Given the description of an element on the screen output the (x, y) to click on. 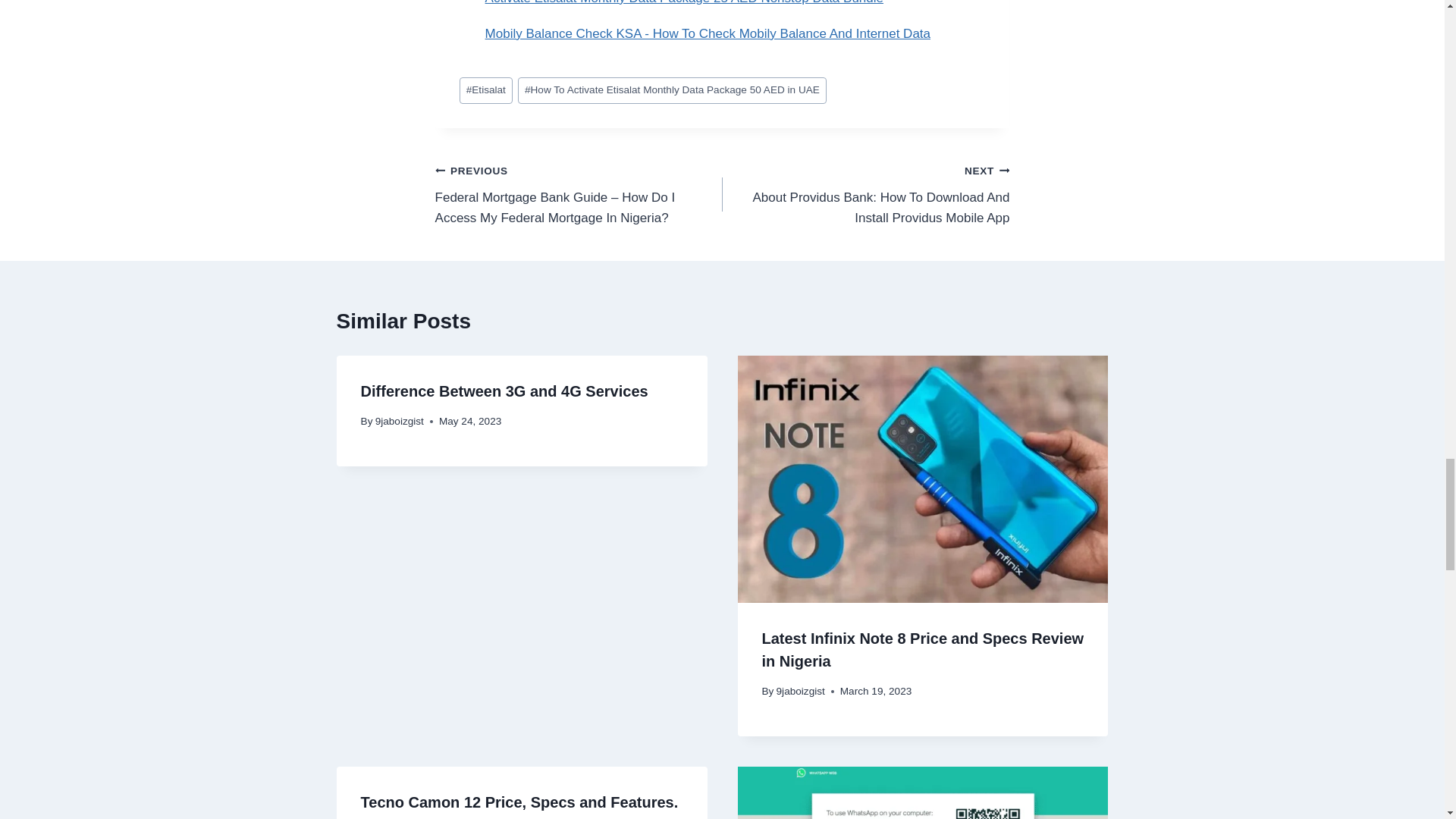
Latest Infinix Note 8 Price and Specs Review in Nigeria 2 (922, 478)
How To Activate Etisalat Monthly Data Package 50 AED in UAE (672, 90)
Etisalat (486, 90)
